Given the description of an element on the screen output the (x, y) to click on. 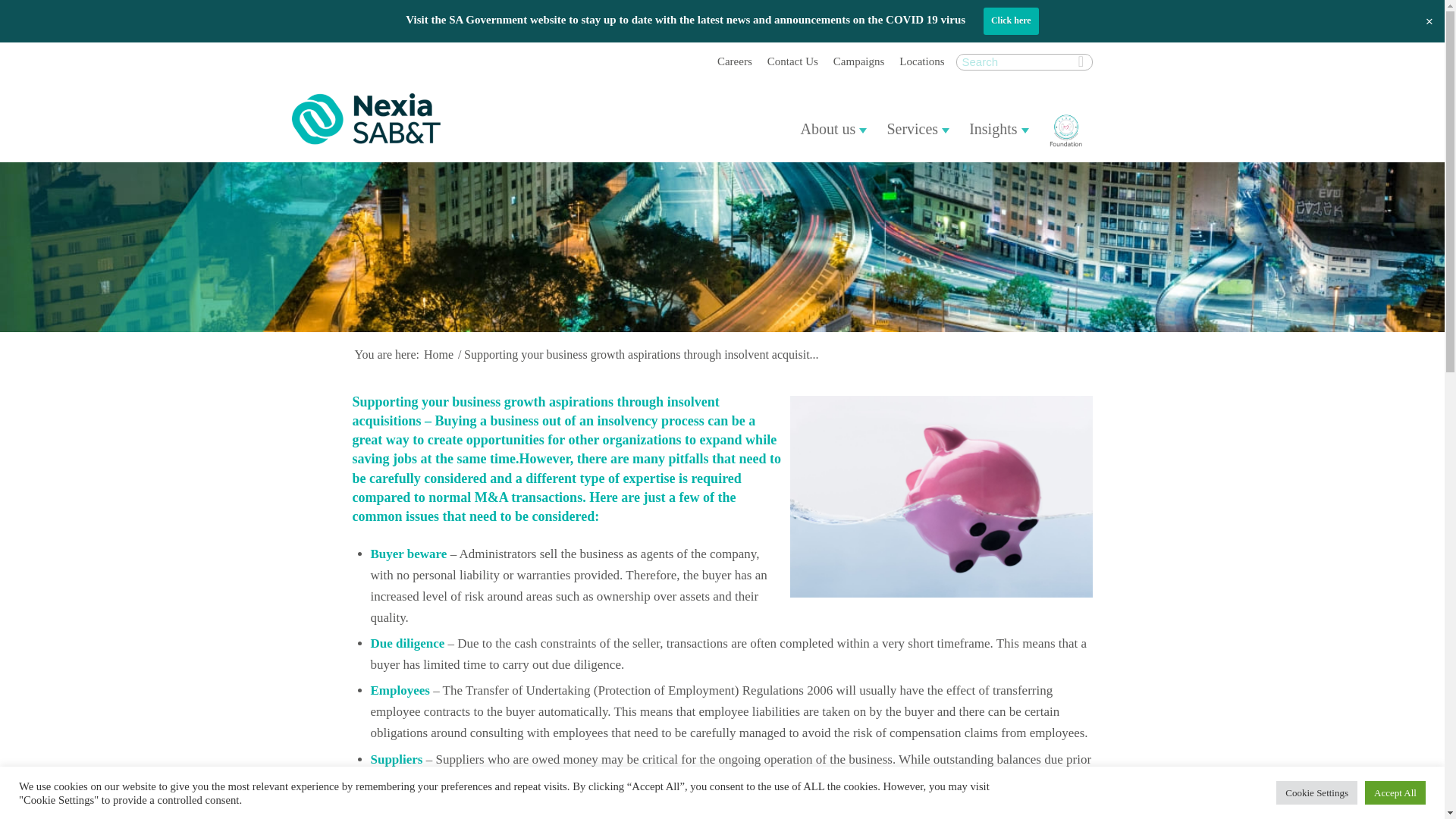
About us (833, 128)
Nexia SABT Logo (365, 119)
Services (917, 128)
Locations (921, 63)
Nexia SABT Logo (395, 119)
Click here (1011, 21)
Campaigns (858, 63)
business growth (941, 496)
Contact Us (792, 63)
Careers (734, 63)
